Given the description of an element on the screen output the (x, y) to click on. 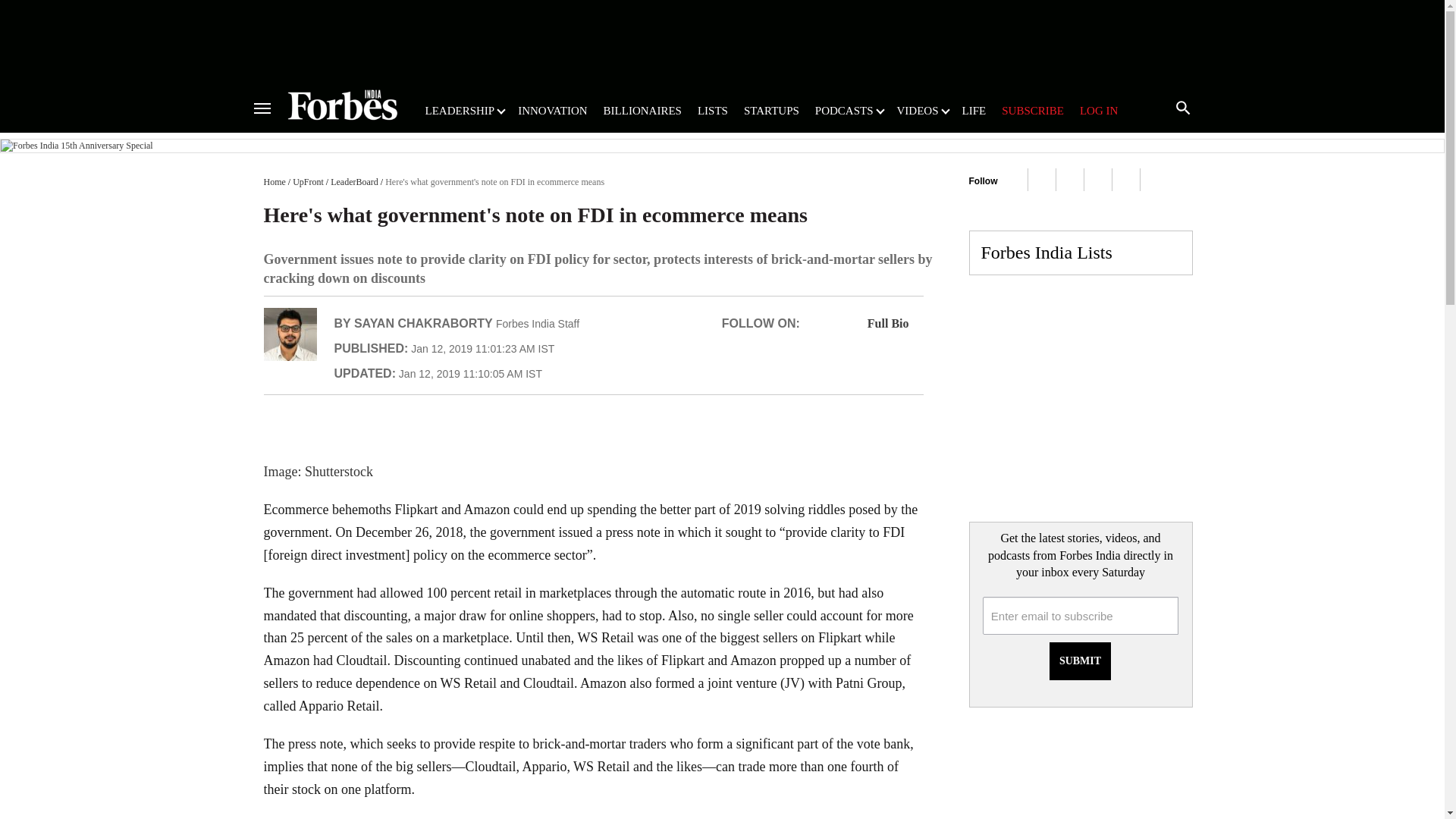
Sayan Chakraborty (290, 334)
